Given the description of an element on the screen output the (x, y) to click on. 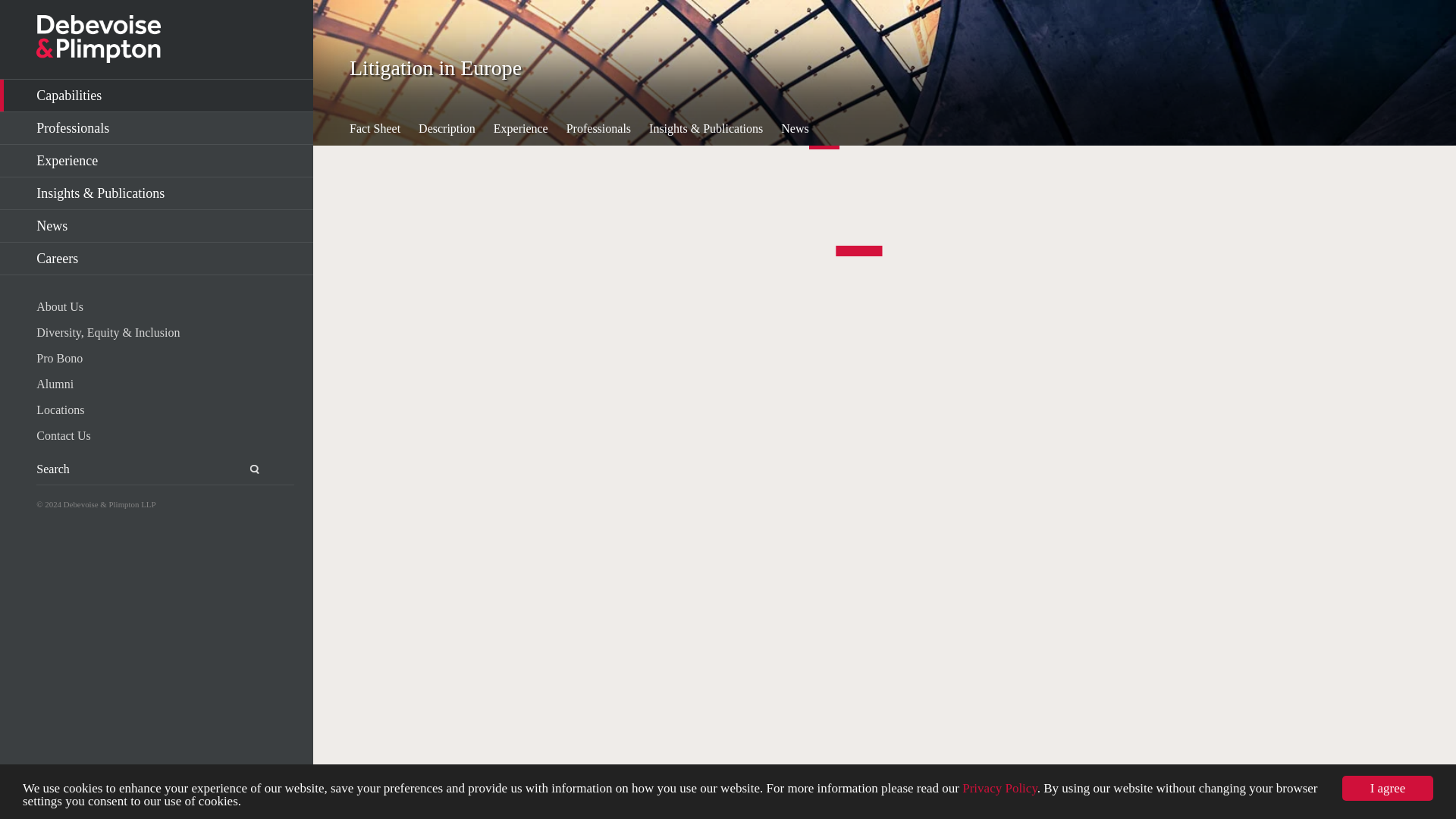
Capabilities (156, 95)
Professionals (598, 128)
Fact Sheet (374, 128)
Description (447, 128)
Experience (156, 160)
Professionals (156, 128)
Experience (520, 128)
News (156, 225)
